Given the description of an element on the screen output the (x, y) to click on. 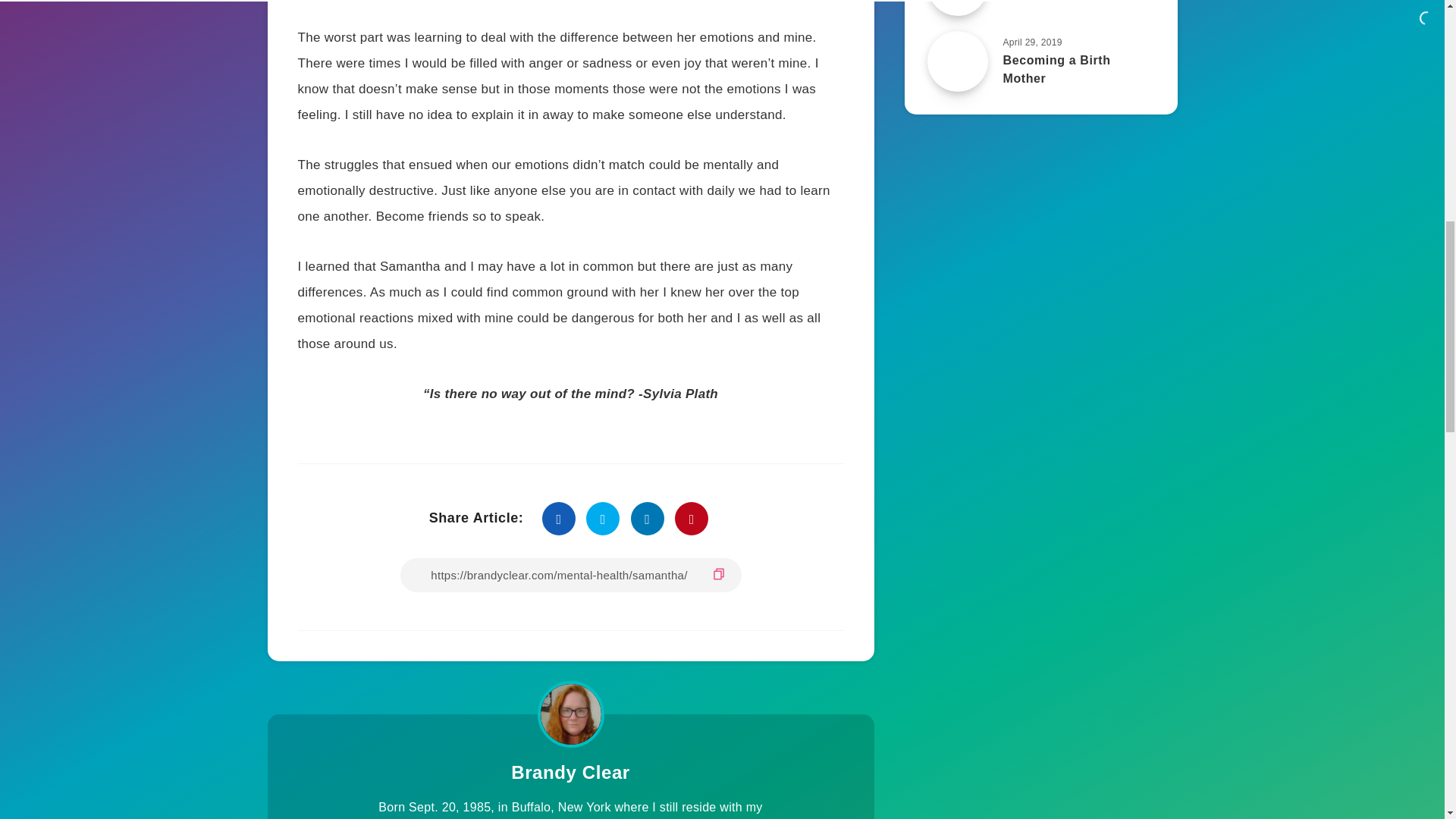
Brandy Clear (570, 774)
Becoming a Birth Mother (1056, 70)
